Given the description of an element on the screen output the (x, y) to click on. 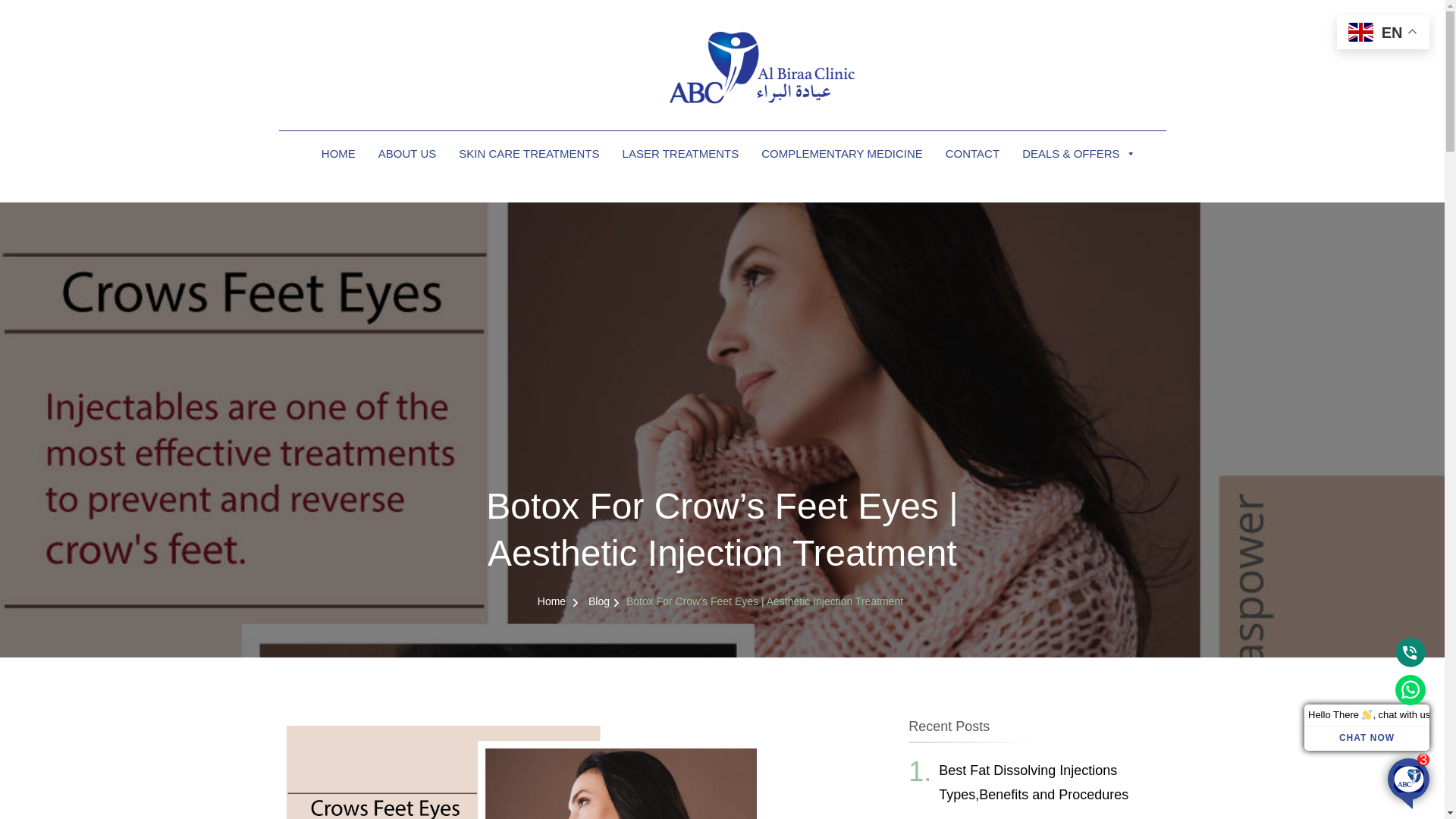
Crows-feet (569, 772)
